Given the description of an element on the screen output the (x, y) to click on. 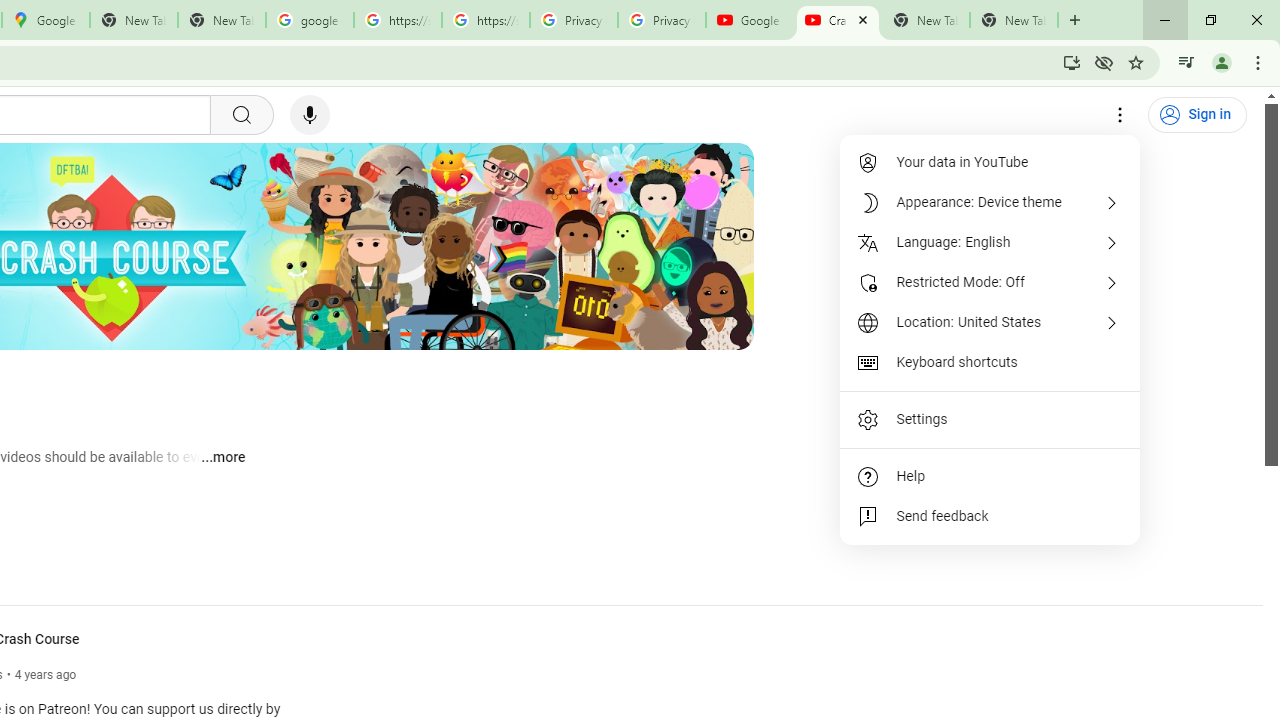
Install YouTube (1071, 62)
https://scholar.google.com/ (397, 20)
New Tab (1014, 20)
https://scholar.google.com/ (485, 20)
Keyboard shortcuts (989, 362)
Search with your voice (309, 115)
Send feedback (989, 516)
